Given the description of an element on the screen output the (x, y) to click on. 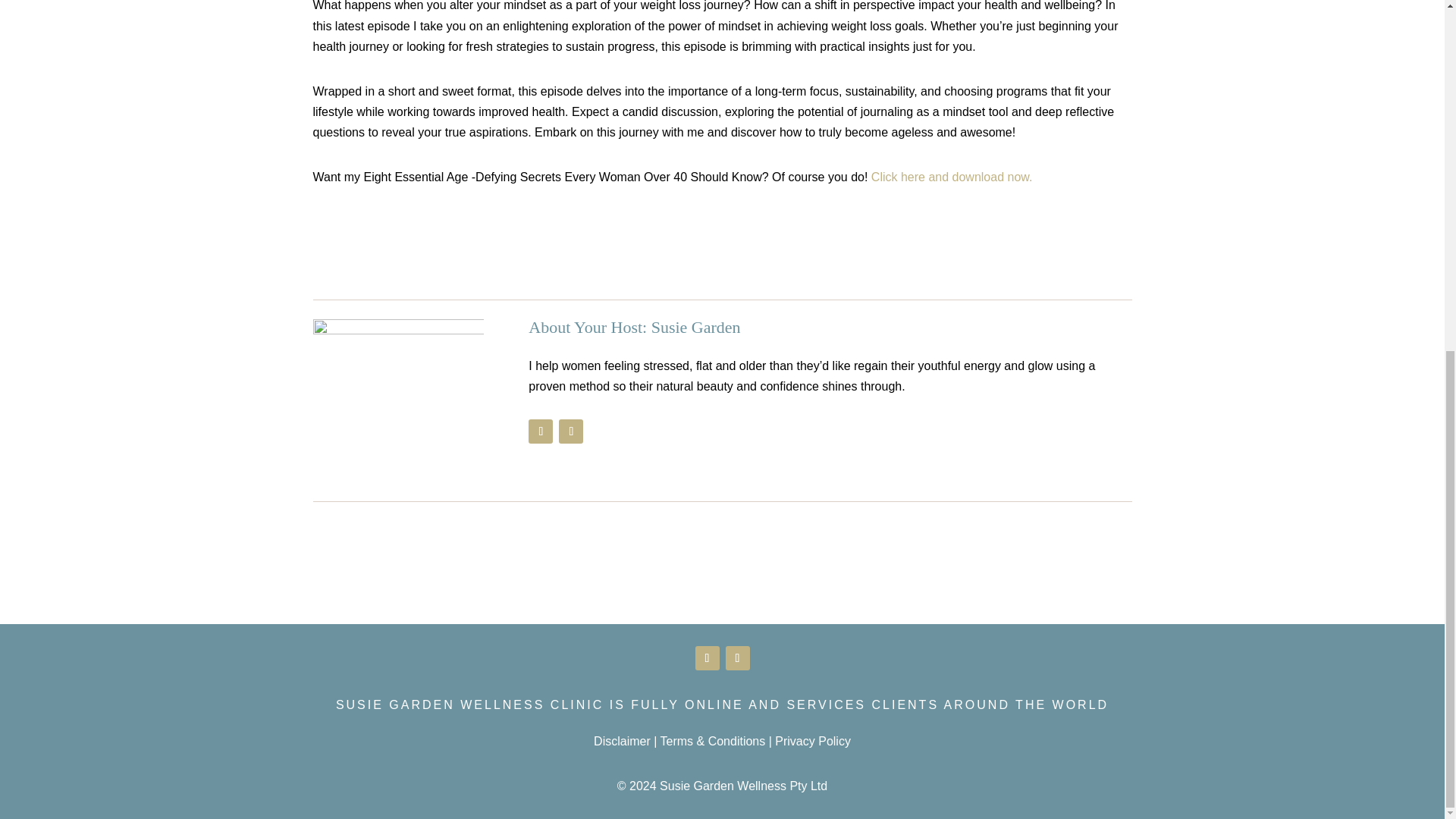
Privacy Policy (812, 740)
Disclaimer (622, 740)
Susie Garden Author (398, 404)
Follow on Facebook (706, 658)
Follow on Instagram (737, 658)
Follow on Instagram (571, 431)
Follow on Facebook (540, 431)
